Given the description of an element on the screen output the (x, y) to click on. 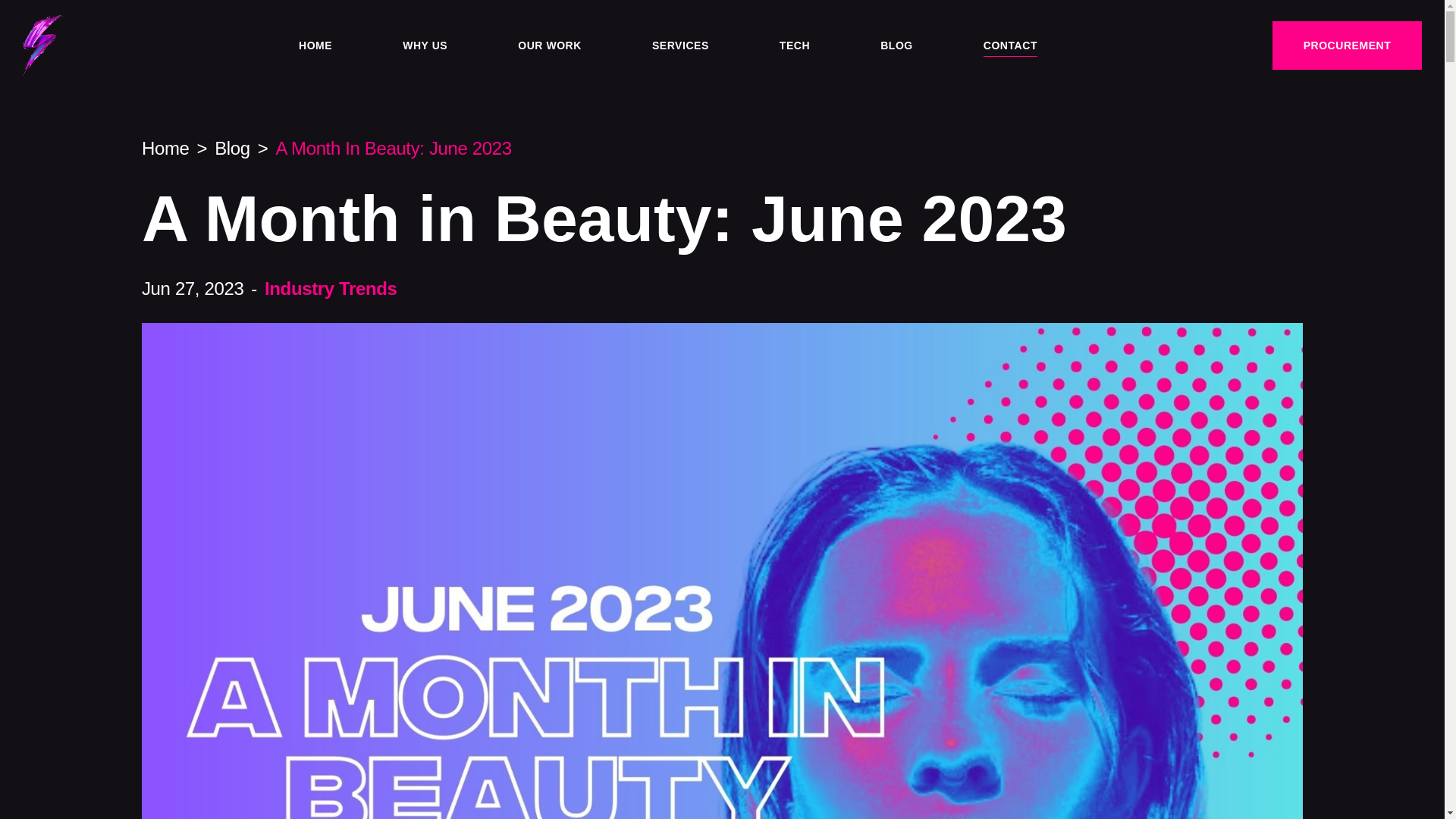
OUR WORK (549, 45)
HOME (314, 45)
PROCUREMENT (1347, 45)
Home (165, 148)
Blog (232, 148)
TECH (793, 45)
CONTACT (1010, 45)
BLOG (896, 45)
SERVICES (680, 45)
WHY US (424, 45)
